Given the description of an element on the screen output the (x, y) to click on. 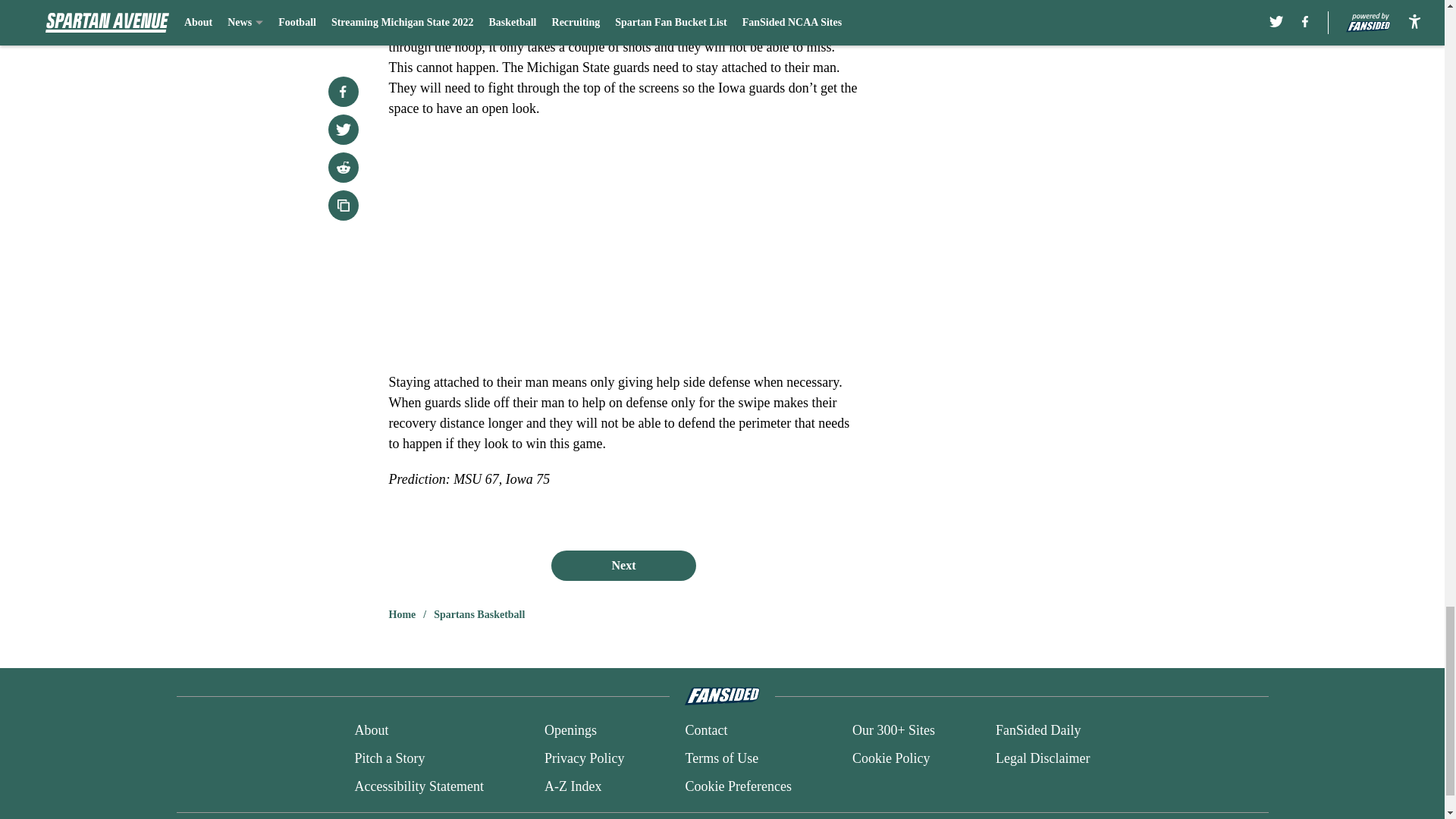
Privacy Policy (584, 758)
Openings (570, 730)
Spartans Basketball (478, 614)
About (370, 730)
FanSided Daily (1038, 730)
Home (401, 614)
Next (622, 565)
Pitch a Story (389, 758)
Contact (705, 730)
